Given the description of an element on the screen output the (x, y) to click on. 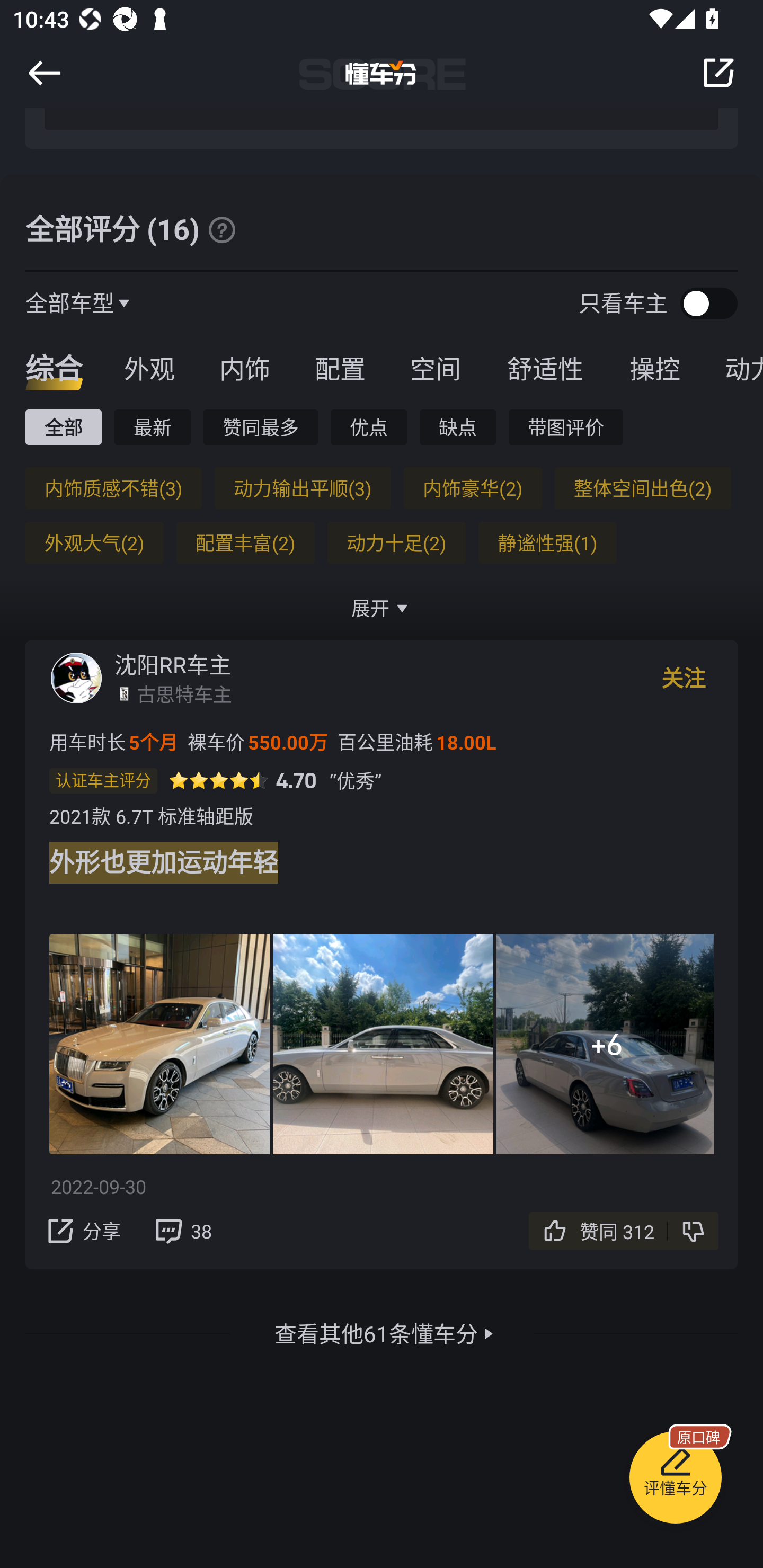
 (44, 72)
 (718, 72)
 (222, 229)
全部车型 (69, 302)
外观 (148, 368)
内饰 (244, 368)
配置 (339, 368)
空间 (434, 368)
舒适性 (544, 368)
操控 (654, 368)
全部 (63, 427)
最新 (152, 427)
赞同最多 (260, 427)
优点 (368, 427)
缺点 (457, 427)
带图评价 (565, 427)
内饰质感不错(3) (113, 488)
动力输出平顺(3) (302, 488)
内饰豪华(2) (472, 488)
整体空间出色(2) (642, 488)
外观大气(2) (94, 542)
配置丰富(2) (245, 542)
动力十足(2) (396, 542)
静谧性强(1) (547, 542)
展开  (381, 608)
沈阳RR车主 (172, 663)
关注 (683, 677)
古思特车主 (183, 693)
+6 (604, 1044)
 分享 (82, 1230)
 38 (182, 1230)
赞同 312 (619, 1231)
查看其他61条懂车分 (375, 1333)
 评懂车分 原口碑 (675, 1480)
